Given the description of an element on the screen output the (x, y) to click on. 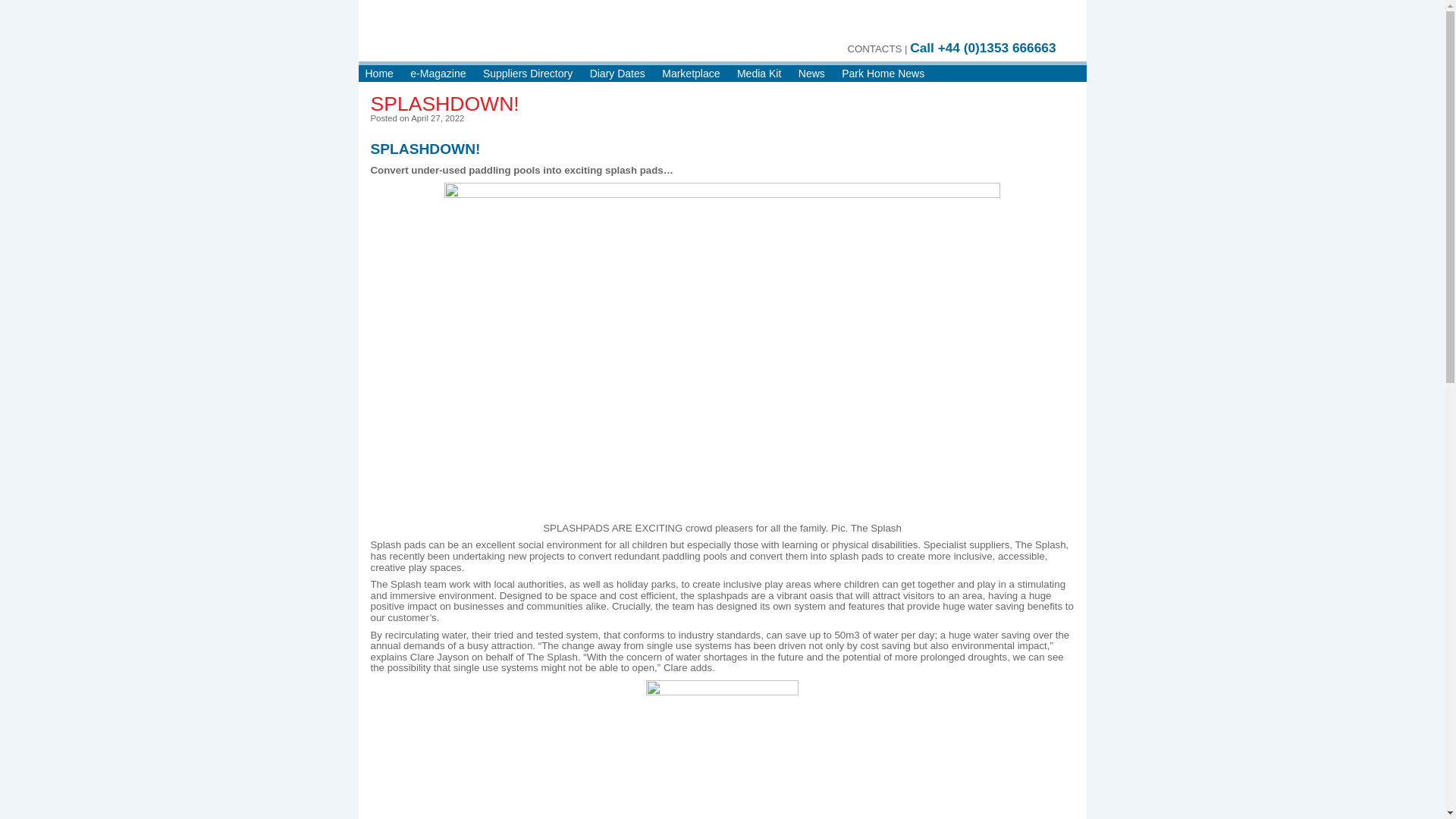
Diary Dates (616, 73)
CONTACTS (874, 48)
Media Kit (758, 73)
Park Home News (882, 73)
Holiday Park Scene Magazine (538, 38)
Marketplace (690, 73)
Holiday Park Scene Magazine (538, 38)
Suppliers Directory (527, 73)
Print (1012, 24)
Increase Text Size (1040, 24)
Home (379, 73)
e-Magazine (437, 73)
News (811, 73)
